Given the description of an element on the screen output the (x, y) to click on. 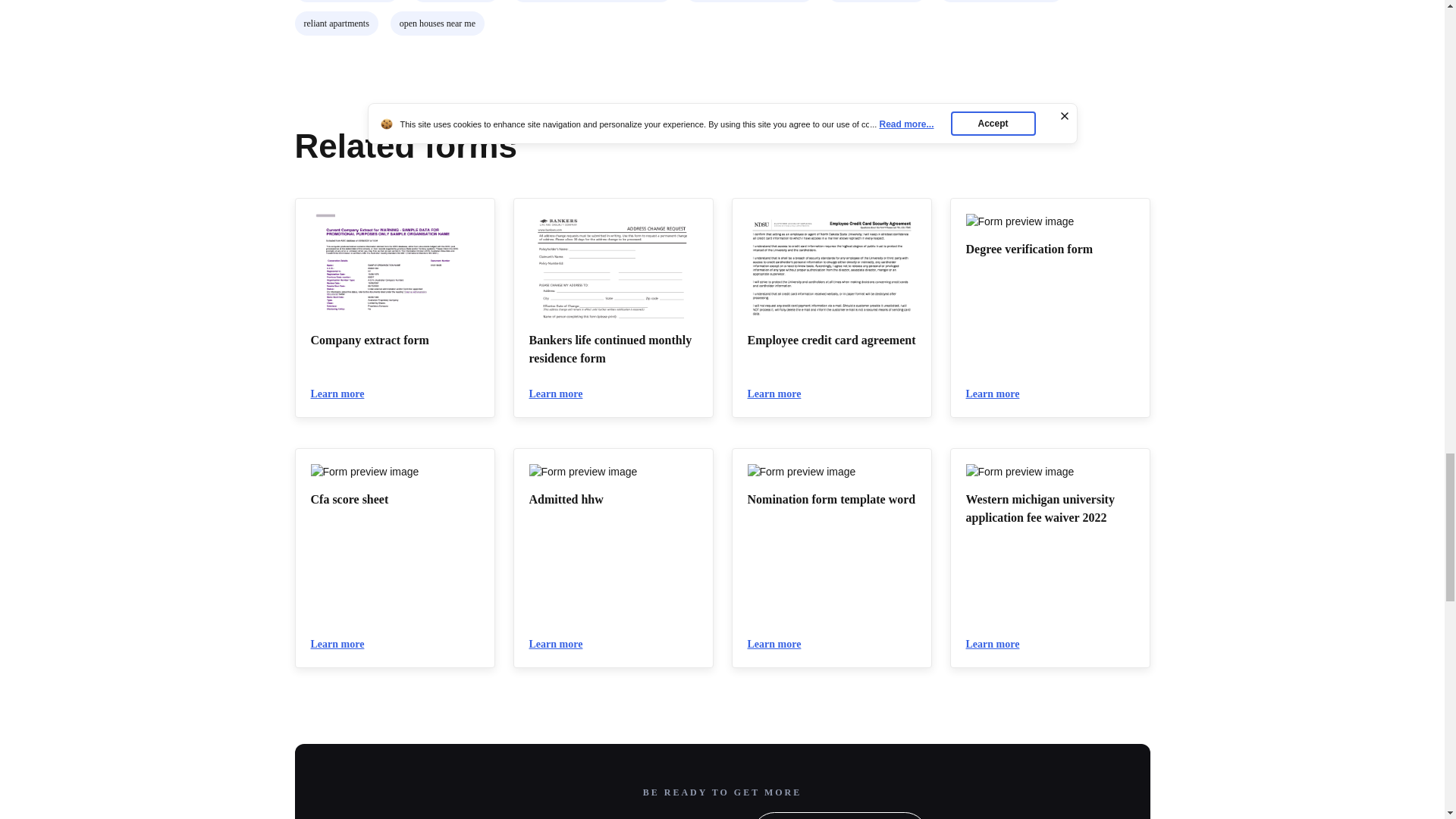
Learn more (344, 644)
Learn more (562, 394)
Learn more (999, 644)
Learn more (781, 394)
Learn more (781, 644)
Learn more (999, 394)
Learn more (562, 644)
Learn more (344, 394)
